Given the description of an element on the screen output the (x, y) to click on. 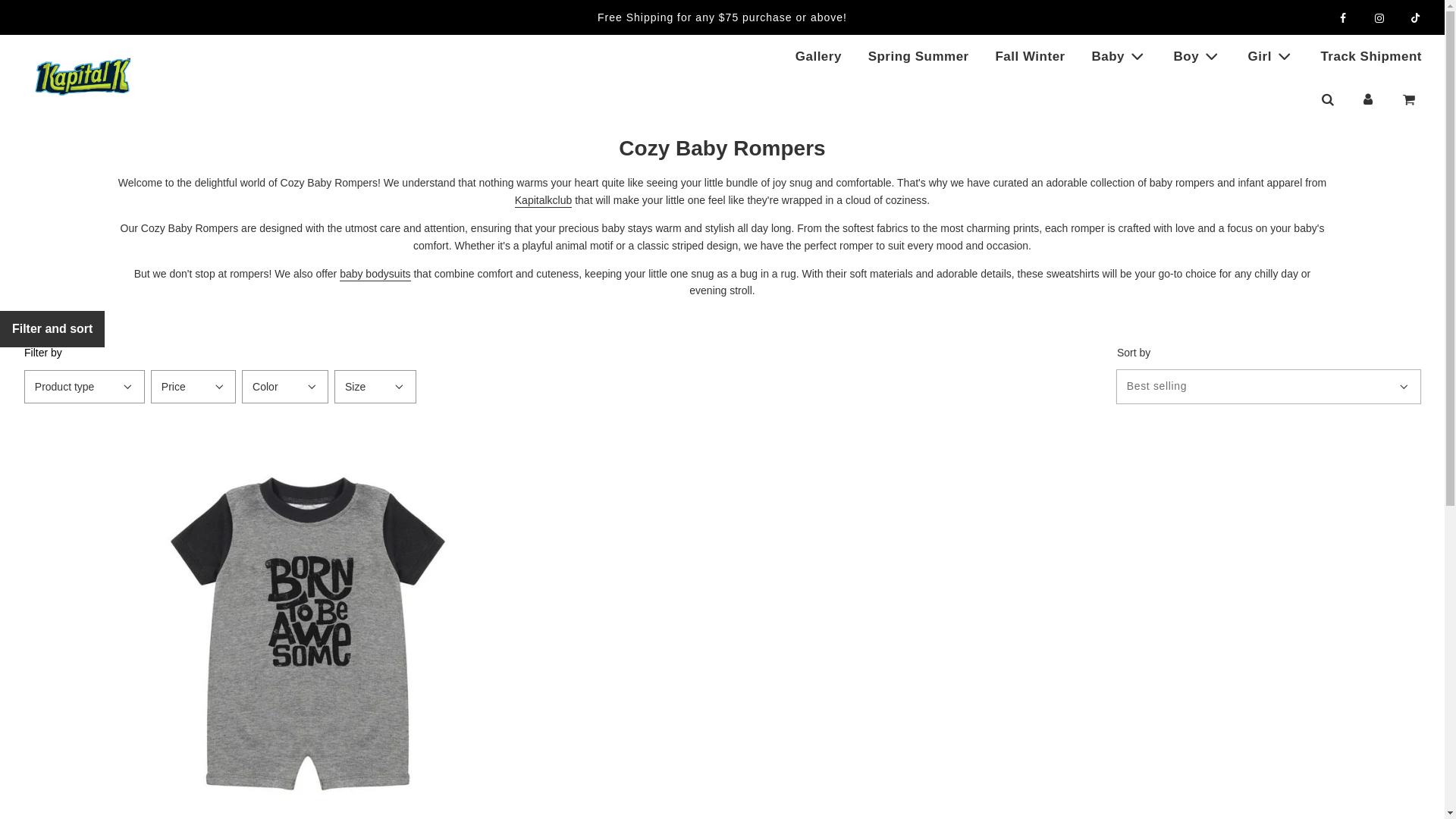
Gallery (818, 56)
Log in (1368, 99)
